Given the description of an element on the screen output the (x, y) to click on. 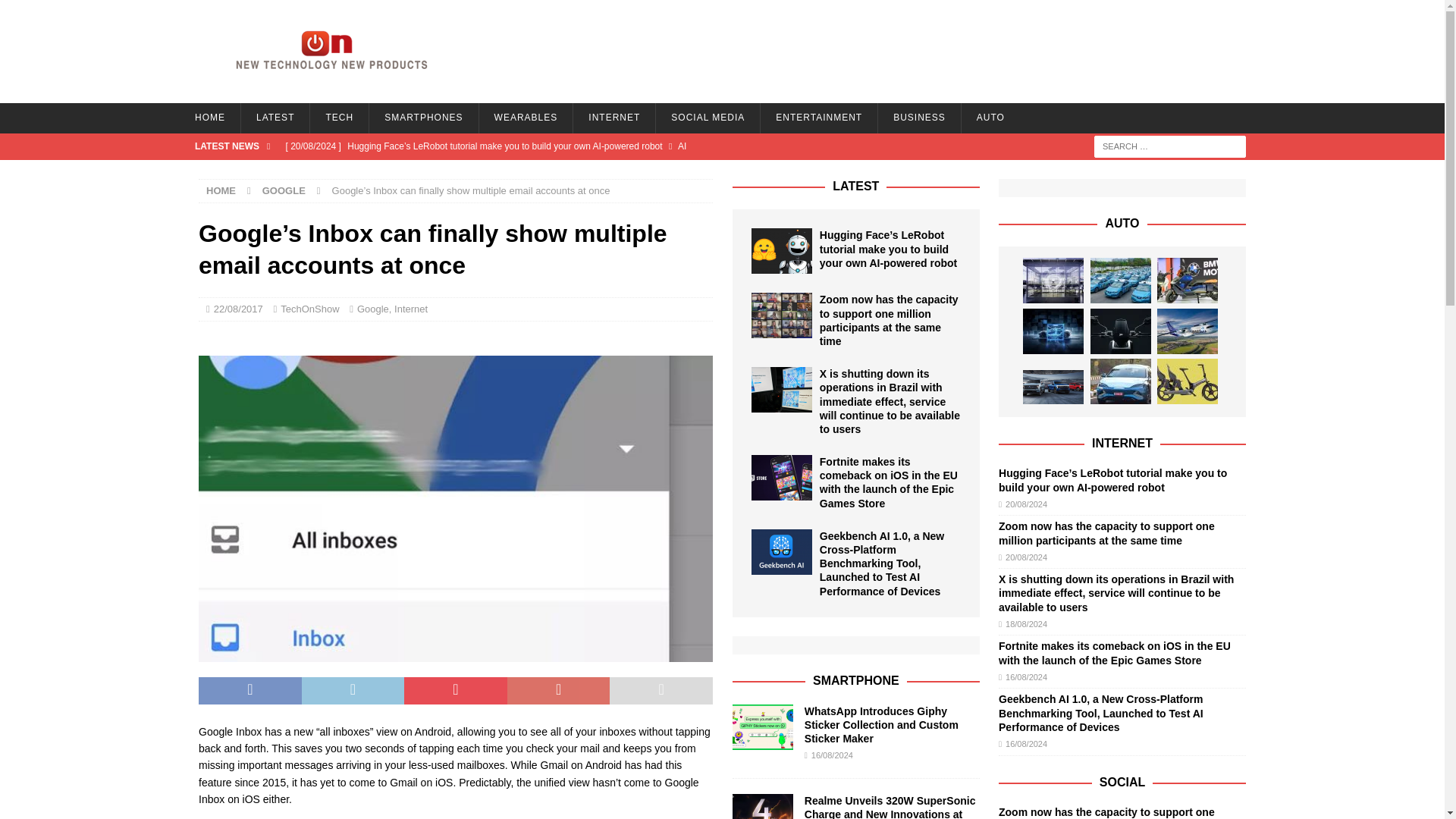
ENTERTAINMENT (818, 117)
TechOnShow (310, 308)
INTERNET (613, 117)
GOOGLE (283, 190)
BUSINESS (918, 117)
HOME (209, 117)
Search (56, 11)
WEARABLES (526, 117)
SOCIAL MEDIA (707, 117)
